Given the description of an element on the screen output the (x, y) to click on. 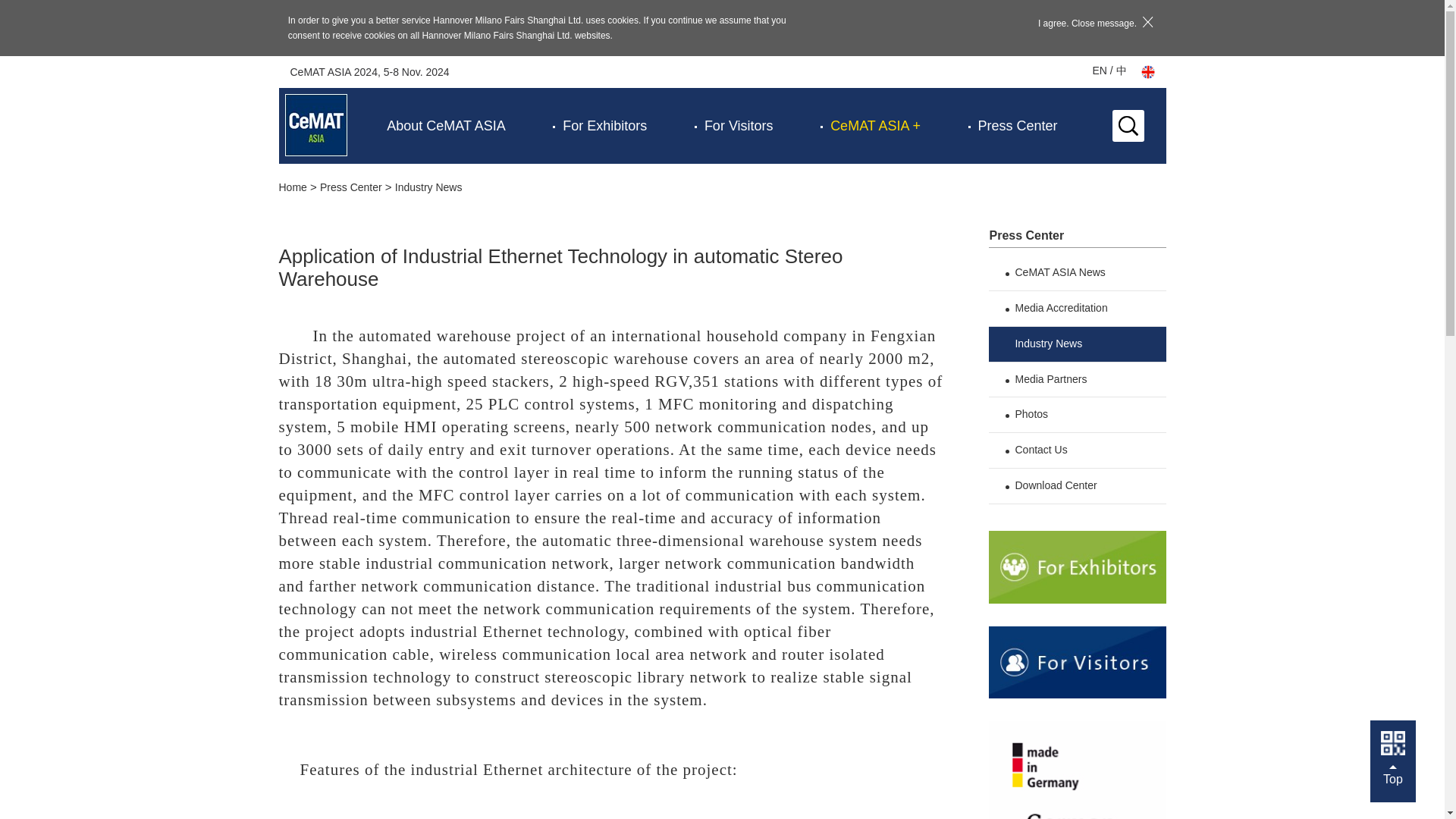
EN (1099, 70)
For Exhibitors (604, 125)
CeMAT ASIA 2024, 5-8 Nov. 2024 (368, 71)
About CeMAT ASIA (446, 125)
For Visitors (738, 125)
